Given the description of an element on the screen output the (x, y) to click on. 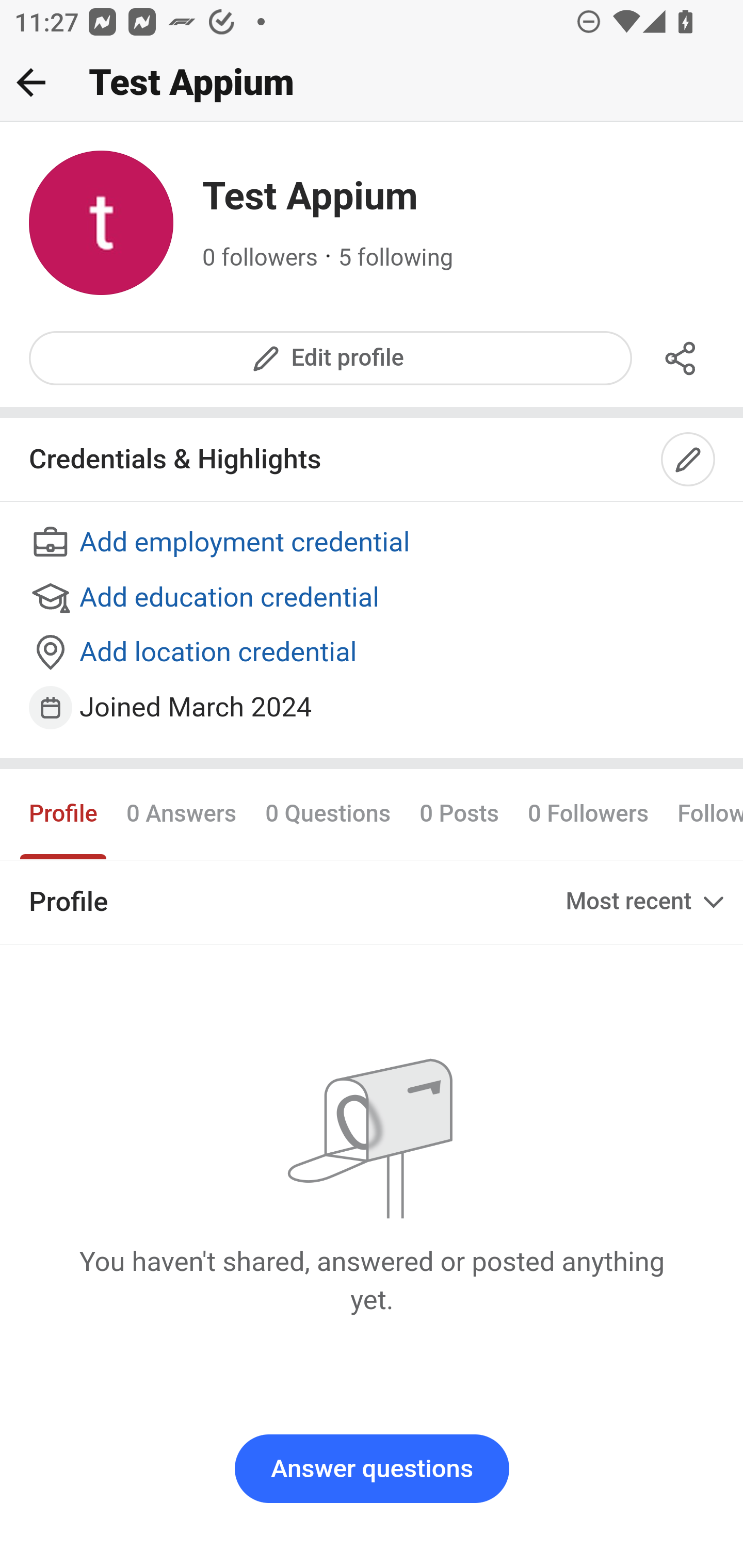
Me Home Search Add (371, 82)
Back Test Appium (371, 82)
Back (30, 82)
0 followers (260, 257)
5 following (395, 257)
Share (681, 358)
Edit profile (330, 357)
Edit credentials (688, 459)
Add employment credential (372, 543)
Add education credential (372, 598)
Add location credential (372, 653)
Profile (63, 813)
0 Answers (180, 813)
0 Questions (327, 813)
0 Posts (459, 813)
0 Followers (588, 813)
Most recent (647, 901)
Answer questions (371, 1469)
